Given the description of an element on the screen output the (x, y) to click on. 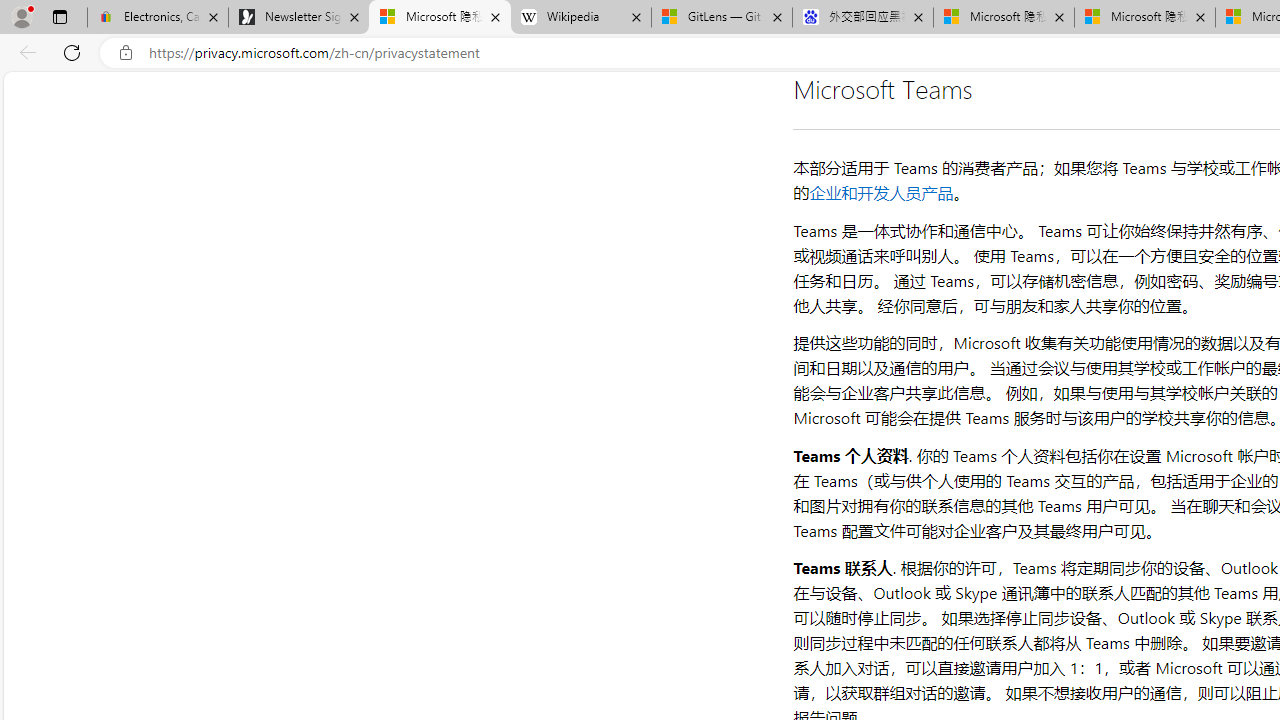
Newsletter Sign Up (298, 17)
